Given the description of an element on the screen output the (x, y) to click on. 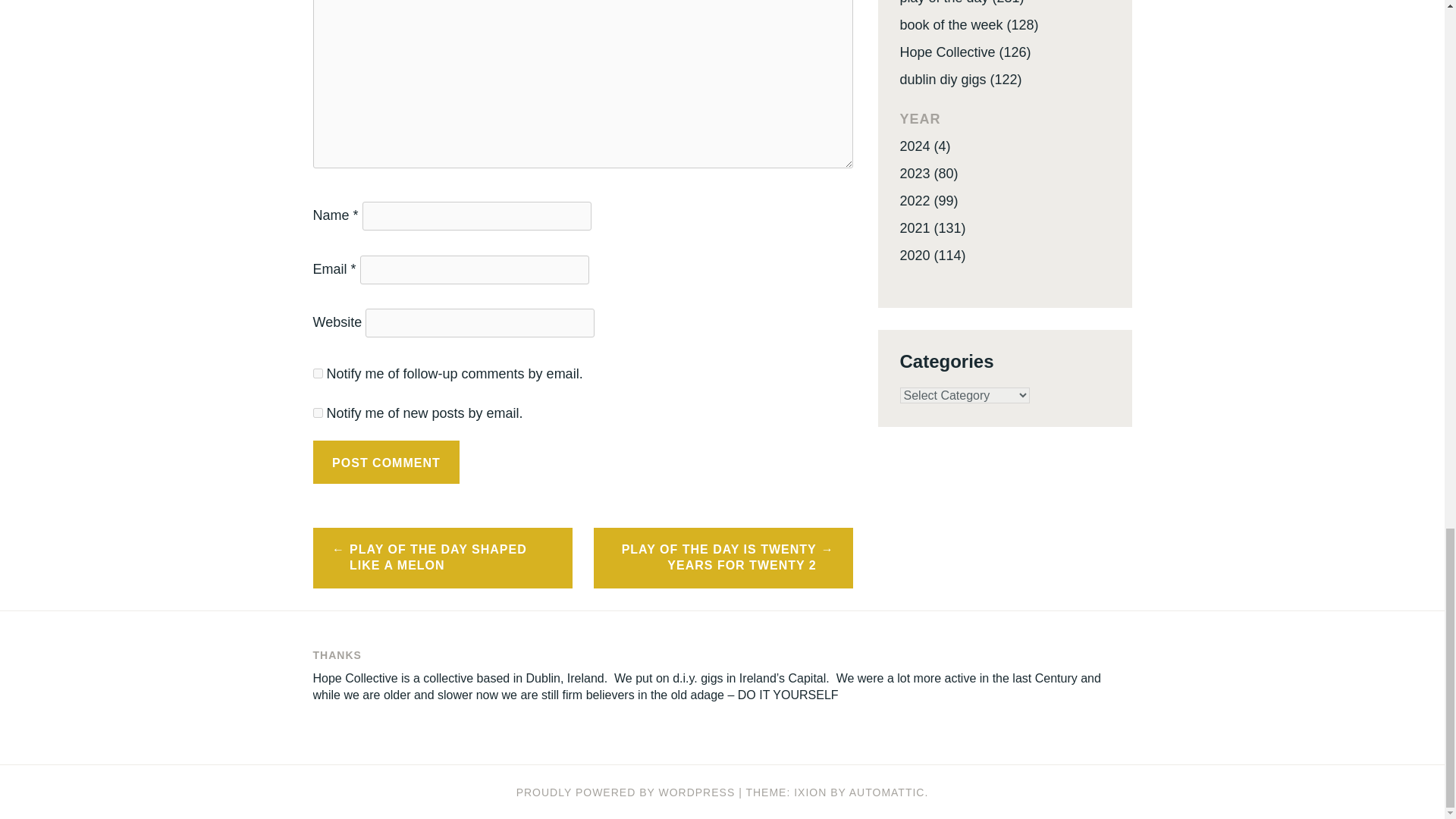
subscribe (317, 373)
subscribe (317, 412)
Post Comment (386, 462)
